Given the description of an element on the screen output the (x, y) to click on. 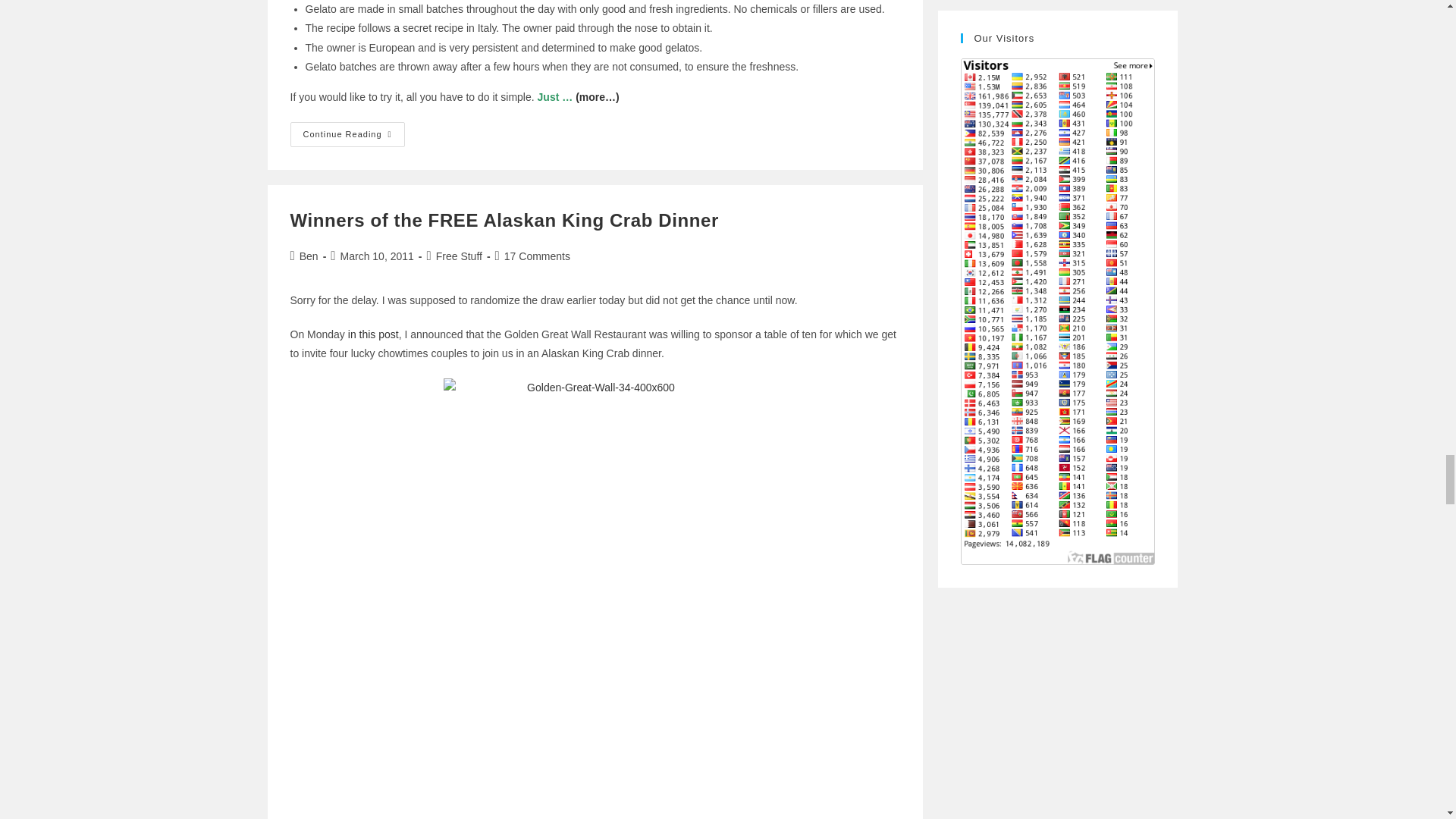
Posts by Ben (308, 256)
